Given the description of an element on the screen output the (x, y) to click on. 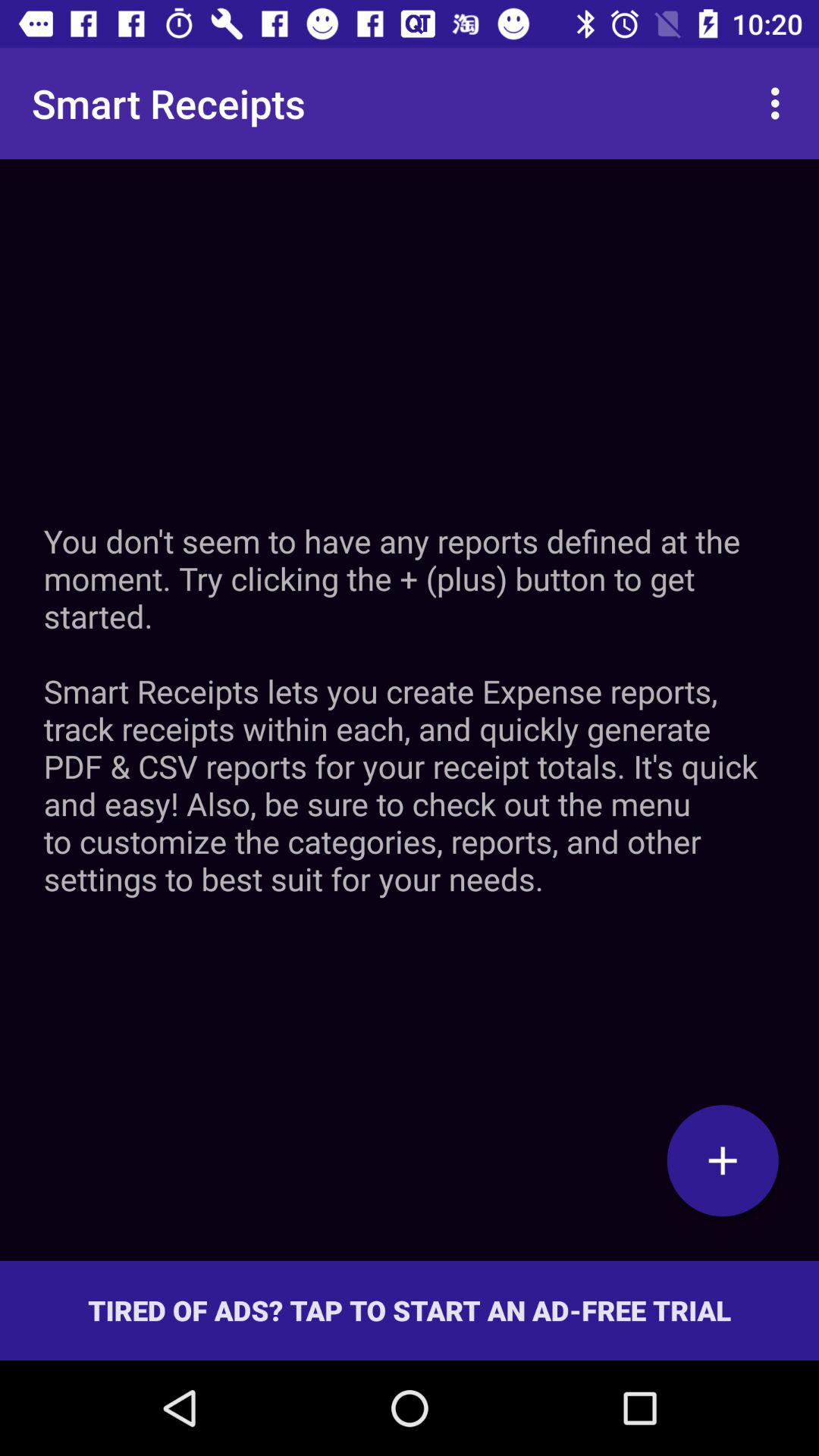
add report (722, 1160)
